Given the description of an element on the screen output the (x, y) to click on. 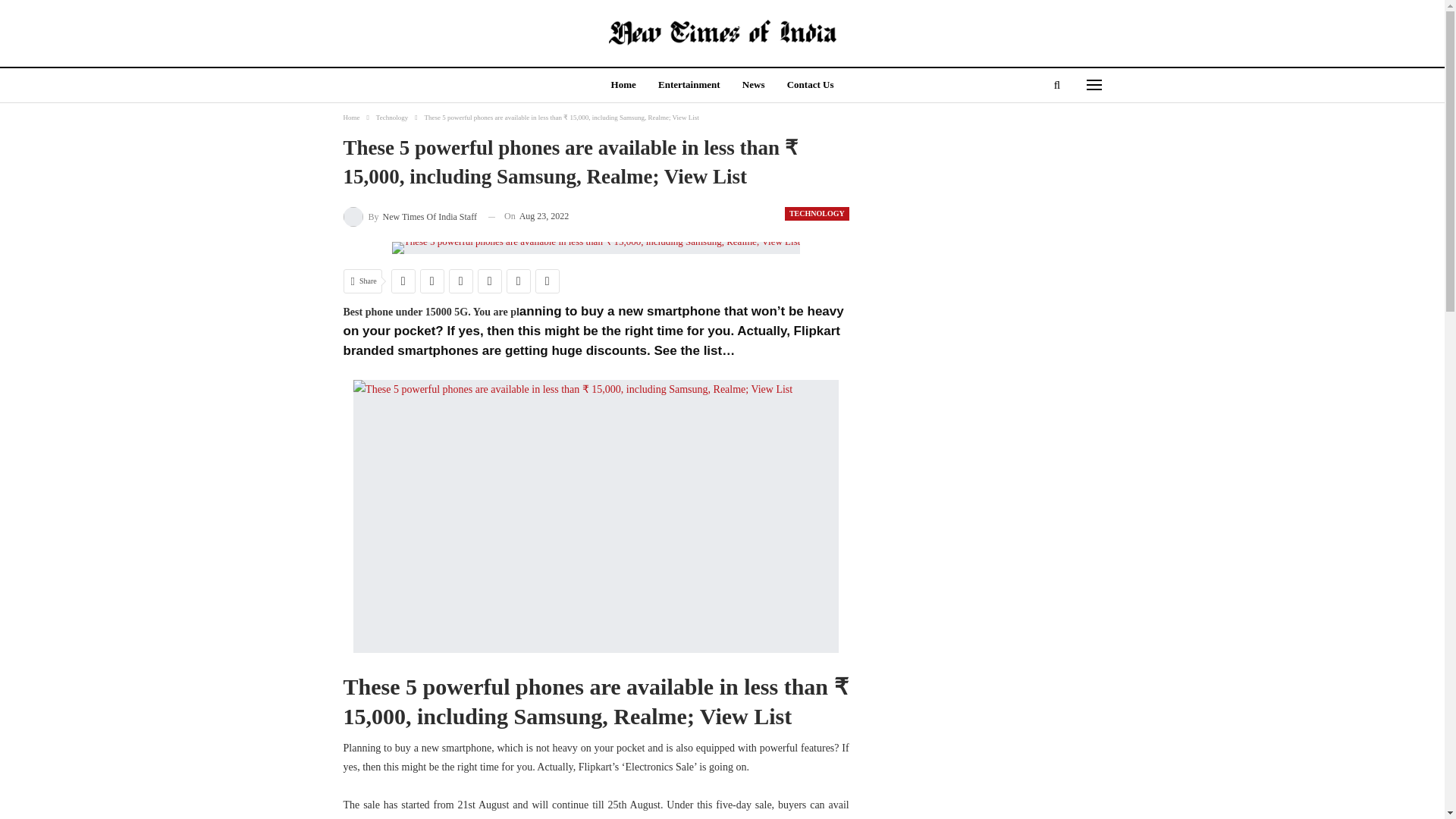
TECHNOLOGY (816, 213)
Home (623, 85)
News (753, 85)
Home (350, 117)
Entertainment (689, 85)
Contact Us (810, 85)
Browse Author Articles (409, 216)
By New Times Of India Staff (409, 216)
Technology (391, 117)
